Given the description of an element on the screen output the (x, y) to click on. 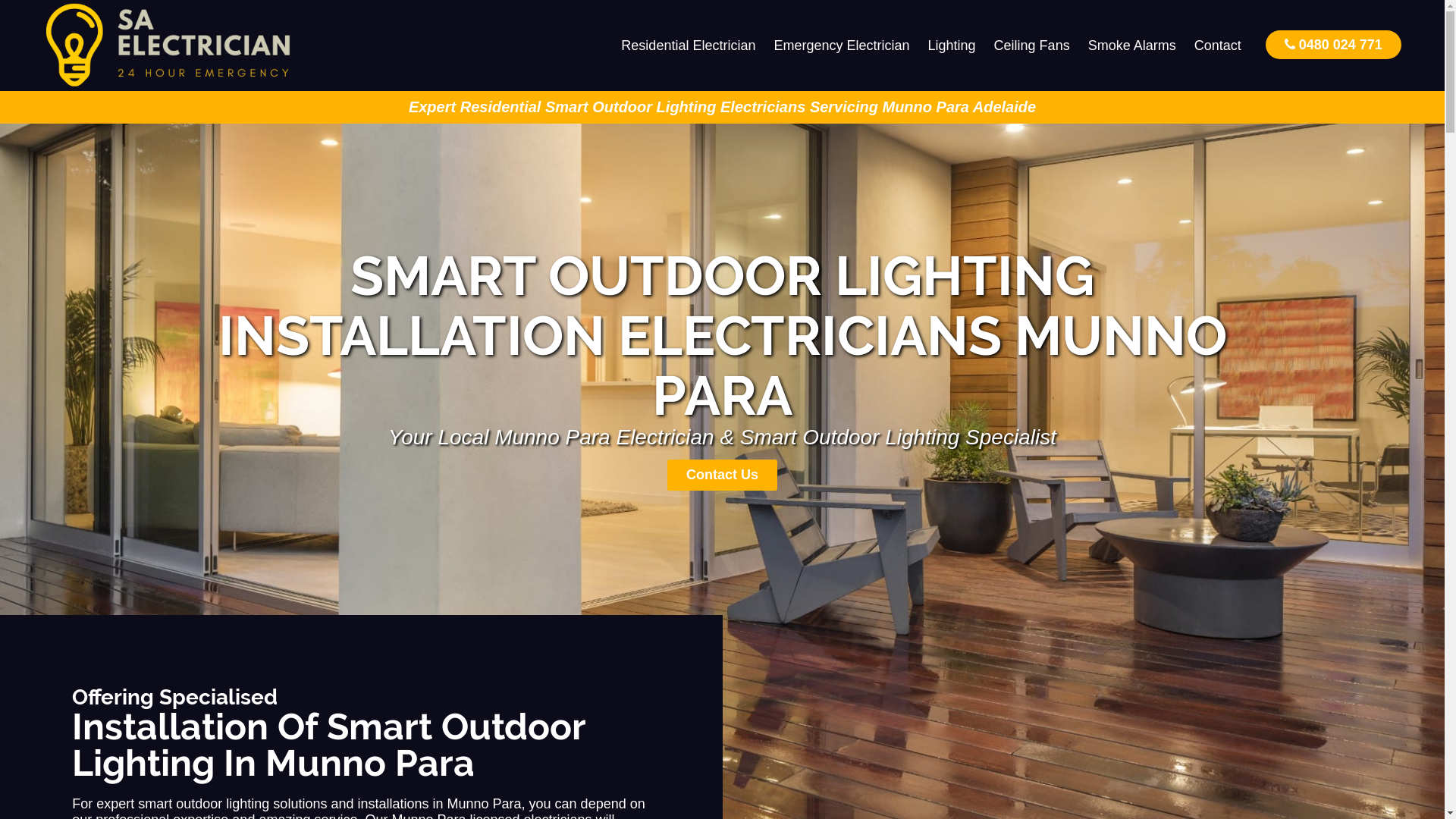
Lighting Element type: text (952, 45)
Smoke Alarms Element type: text (1132, 45)
0480 024 771 Element type: text (1333, 44)
Residential Electrician Element type: text (687, 45)
Contact Us Element type: text (722, 474)
Emergency Electrician Element type: text (841, 45)
Contact Element type: text (1217, 45)
Ceiling Fans Element type: text (1032, 45)
